Given the description of an element on the screen output the (x, y) to click on. 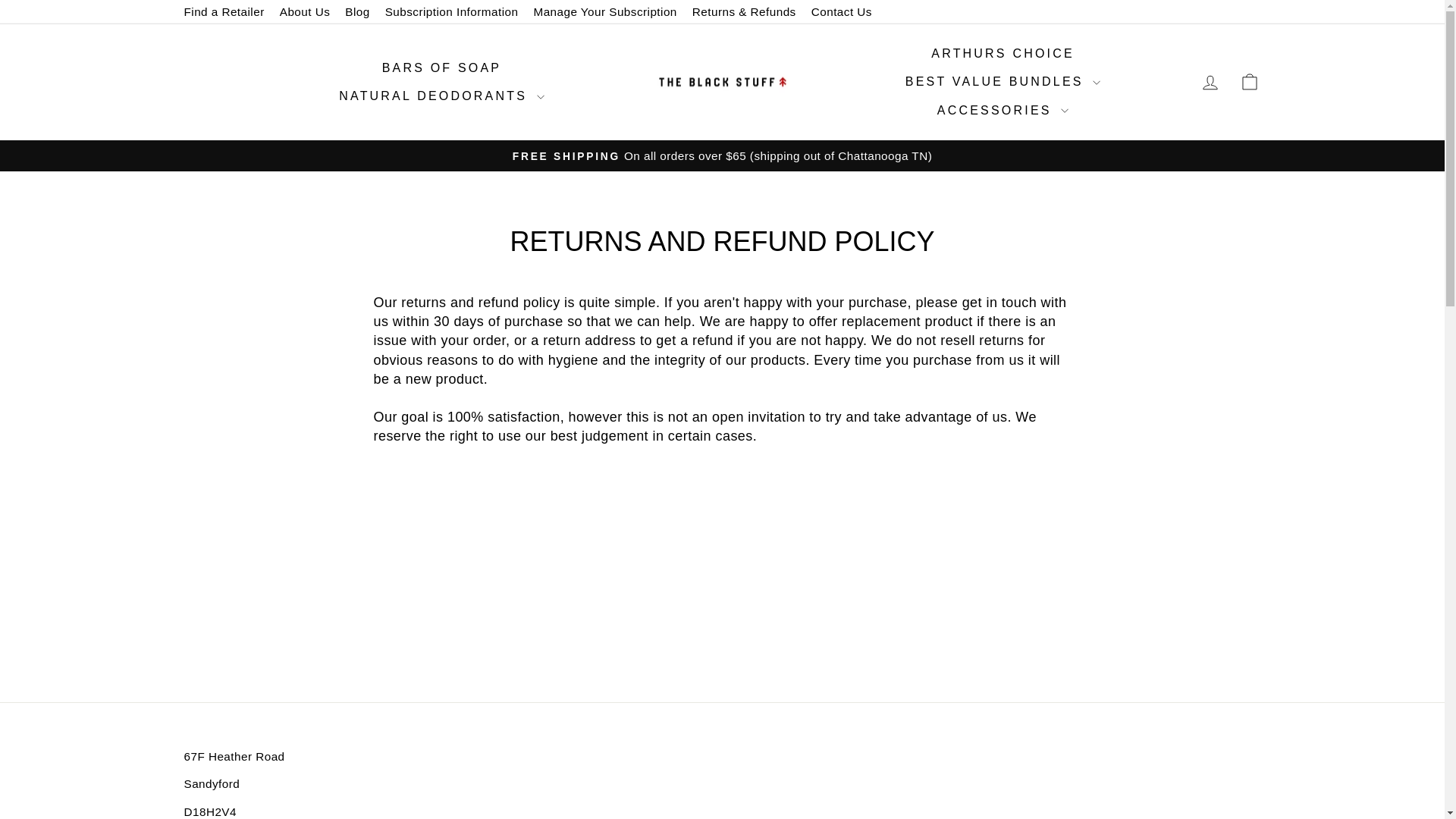
About Us (304, 11)
Subscription Information (451, 11)
ACCOUNT (1210, 82)
Manage Your Subscription (604, 11)
BARS OF SOAP (442, 67)
Contact Us (841, 11)
Find a Retailer (223, 11)
Blog (357, 11)
ICON-BAG-MINIMAL (1249, 81)
